Given the description of an element on the screen output the (x, y) to click on. 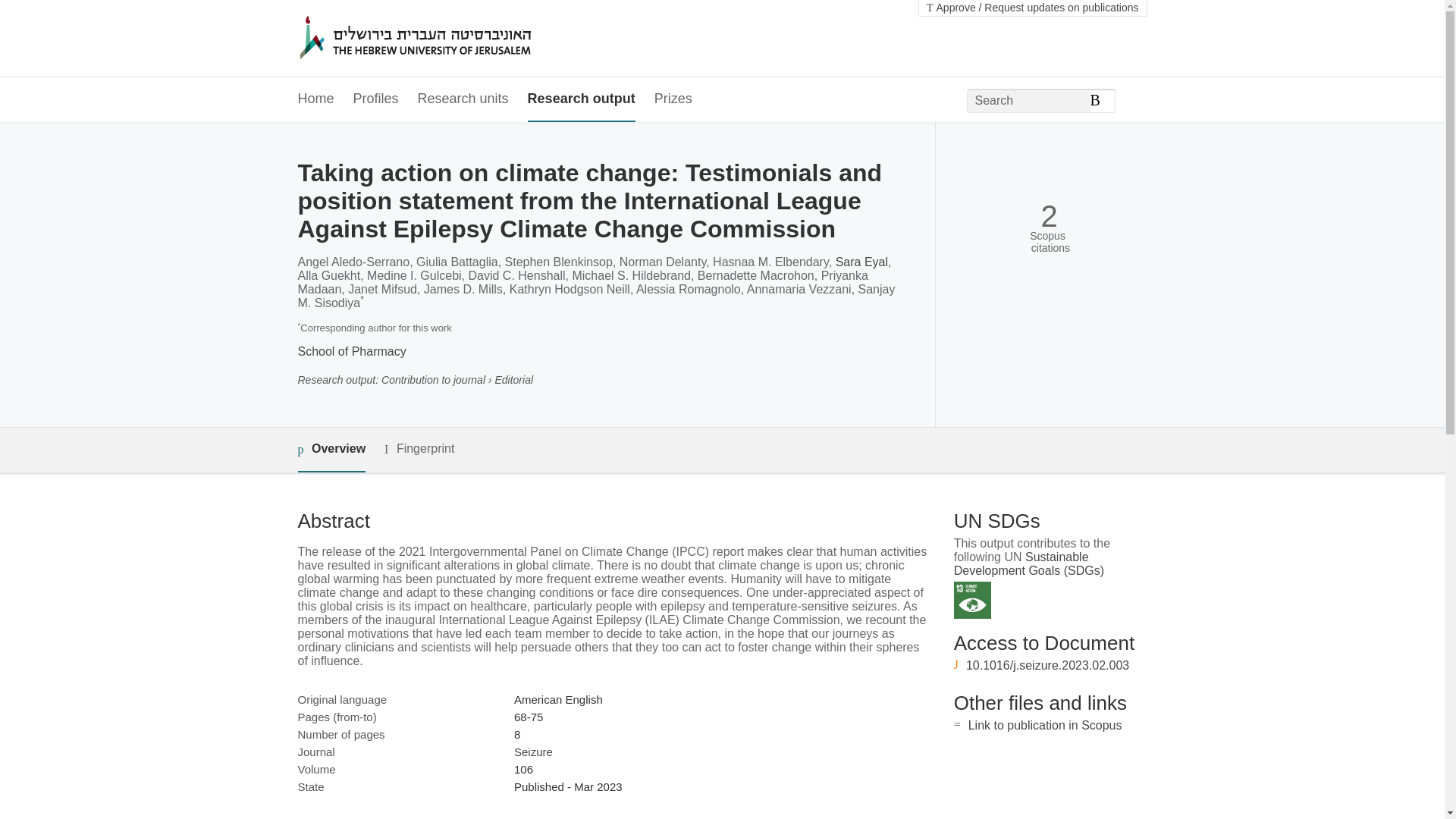
Link to publication in Scopus (1045, 725)
Research units (462, 99)
The Hebrew University of Jerusalem Home (447, 38)
Sara Eyal (861, 261)
Profiles (375, 99)
School of Pharmacy (351, 350)
Fingerprint (419, 448)
Research output (580, 99)
SDG 13 - Climate Action (972, 600)
